Given the description of an element on the screen output the (x, y) to click on. 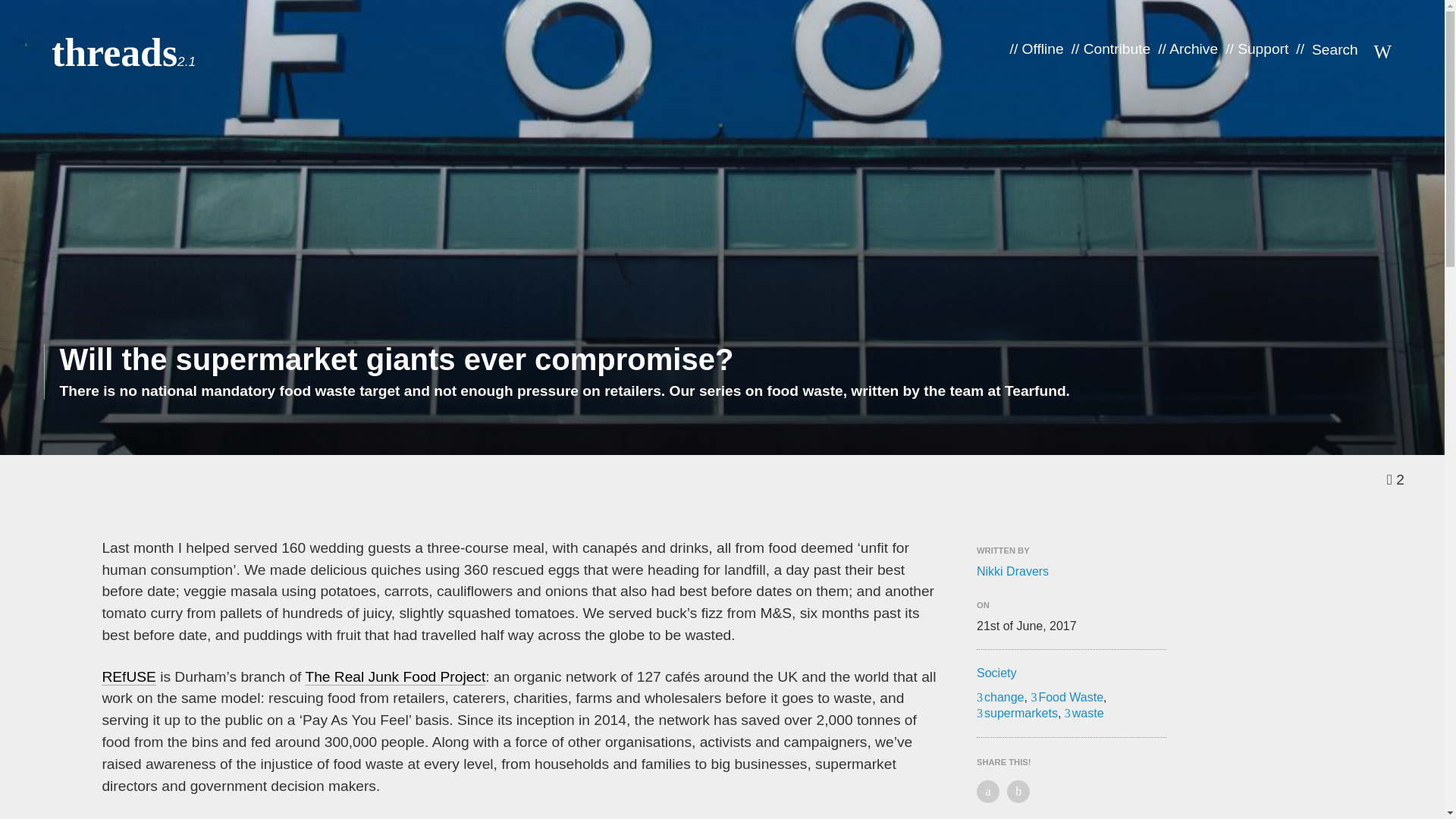
x (1030, 584)
Food Waste (1066, 697)
a (949, 584)
Privacy Policy (114, 722)
Support (1262, 48)
Contribute (103, 685)
Archive (1193, 48)
2.1 (186, 61)
REfUSE (128, 677)
threads (113, 52)
how to write for threads (625, 641)
change (1000, 697)
Contribute (1117, 48)
Offline (93, 613)
b (990, 584)
